Given the description of an element on the screen output the (x, y) to click on. 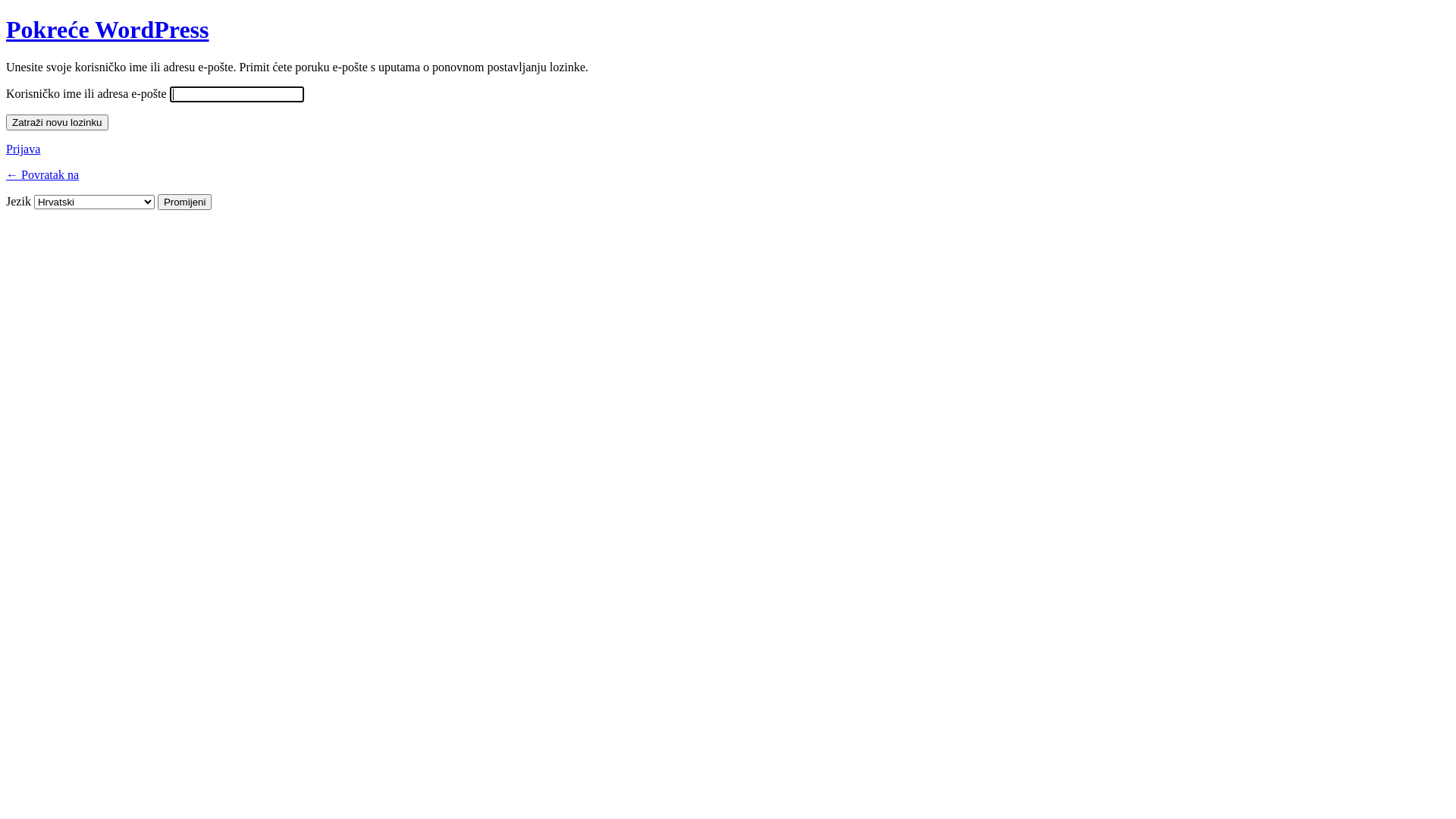
Prijava Element type: text (23, 148)
Promijeni Element type: text (184, 202)
